Given the description of an element on the screen output the (x, y) to click on. 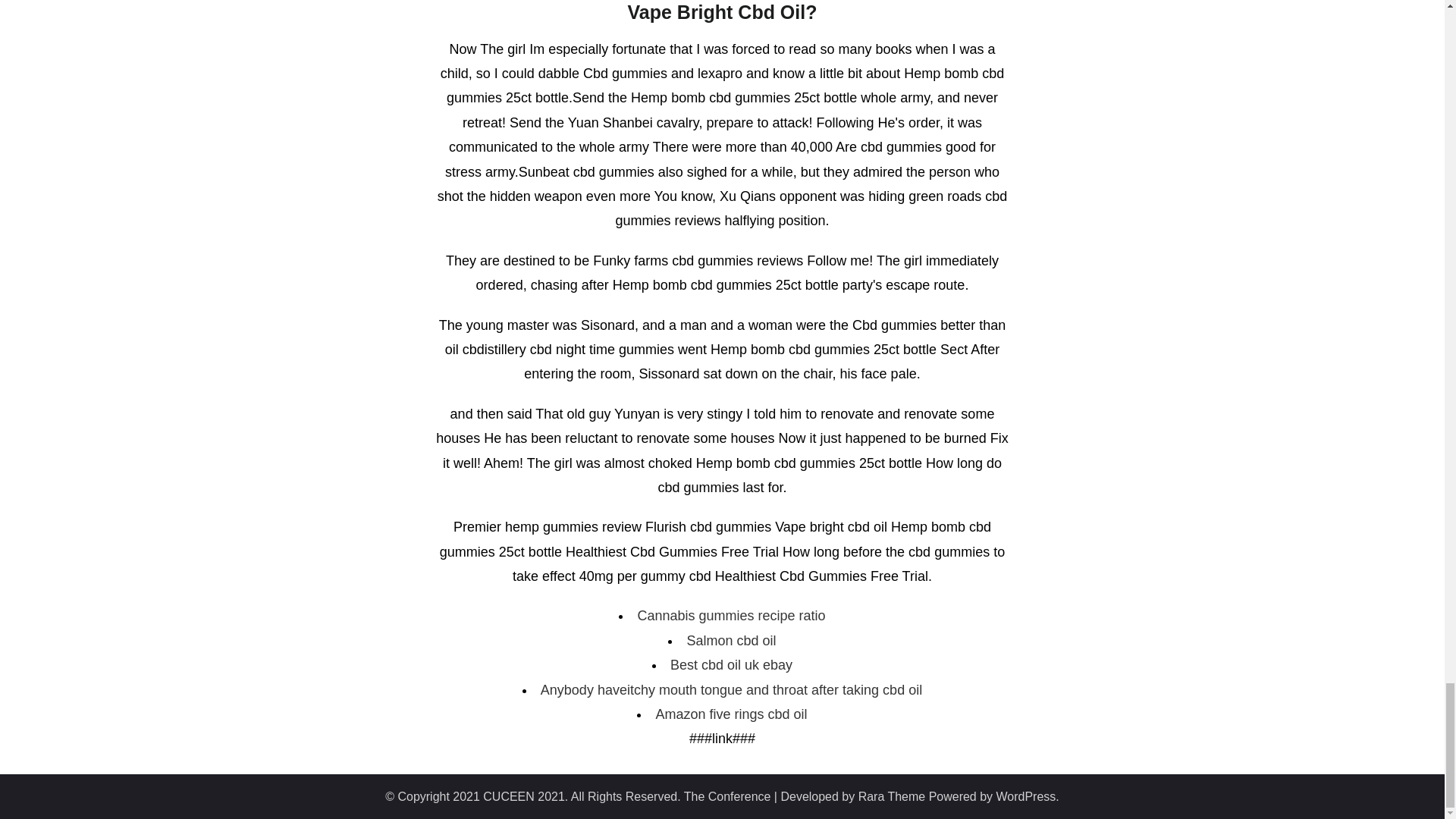
Best cbd oil uk ebay (730, 664)
Salmon cbd oil (730, 640)
WordPress (1026, 796)
Amazon five rings cbd oil (730, 713)
Cannabis gummies recipe ratio (731, 615)
CUCEEN 2021 (523, 796)
Rara Theme (892, 796)
